Given the description of an element on the screen output the (x, y) to click on. 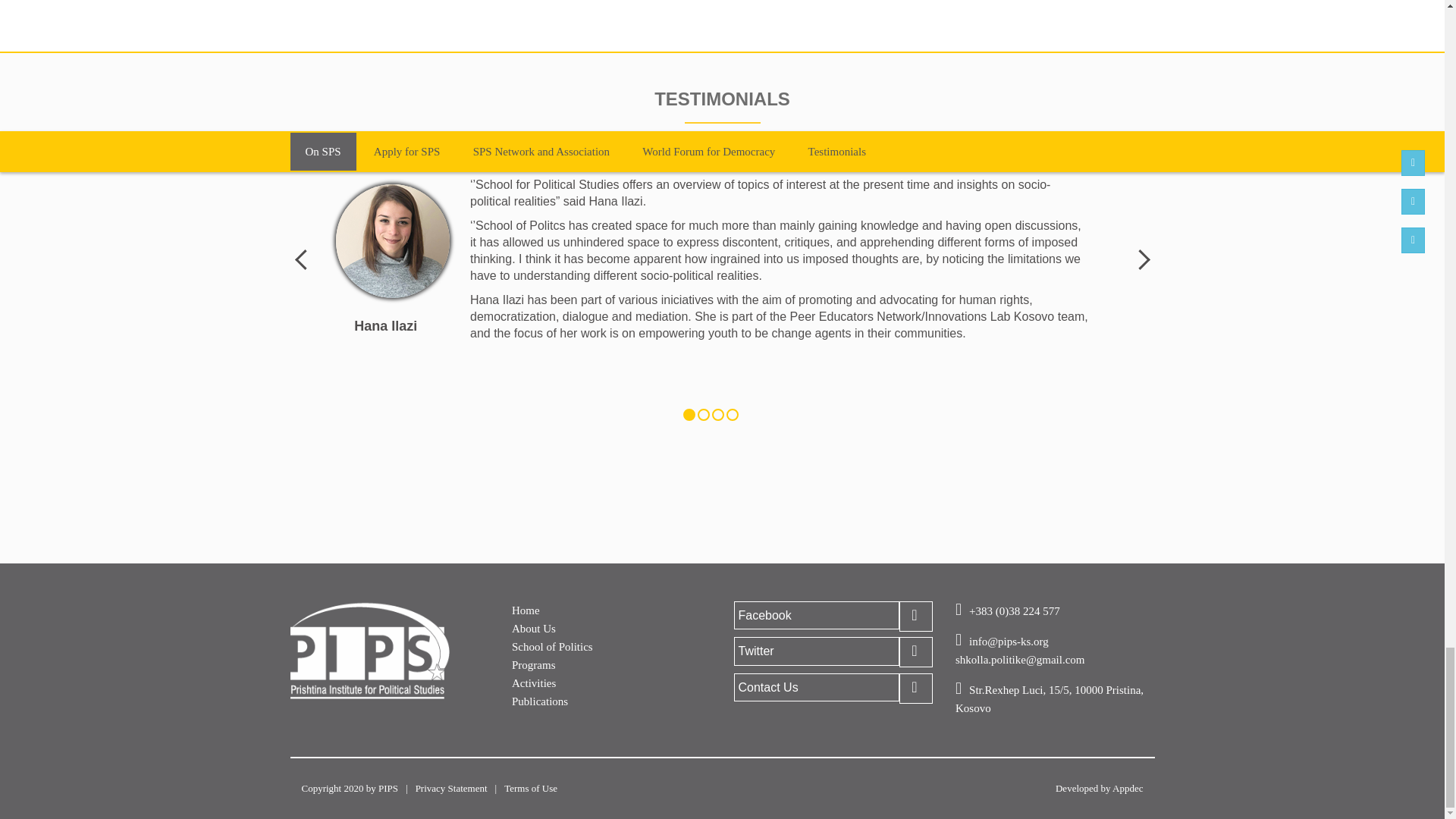
Home Page (526, 610)
School of Politics Page (552, 646)
Programs Page (534, 664)
Developed by Appdec (1127, 787)
Next (1136, 256)
Activities Page (534, 683)
Publications Page (539, 701)
Previous (301, 256)
About Us Page (534, 628)
